Given the description of an element on the screen output the (x, y) to click on. 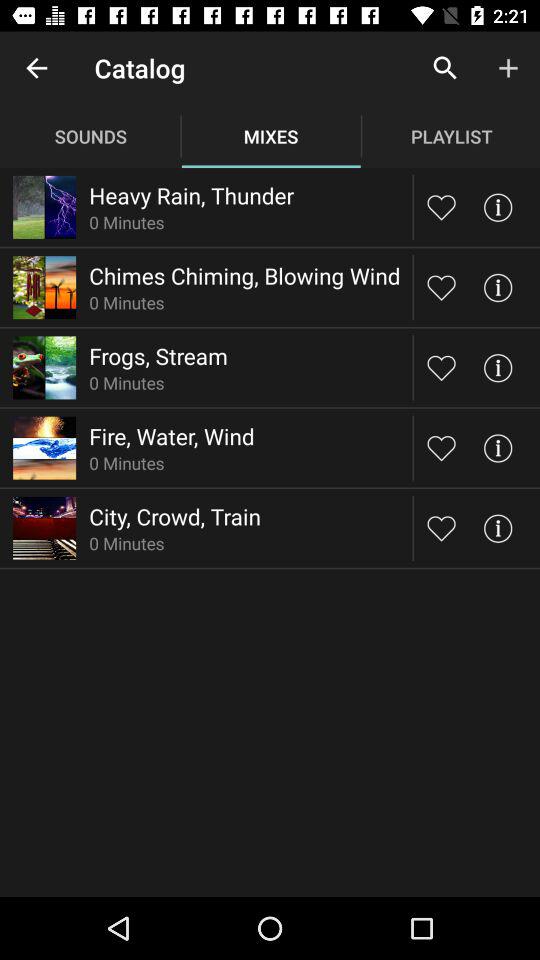
favorite (441, 447)
